Given the description of an element on the screen output the (x, y) to click on. 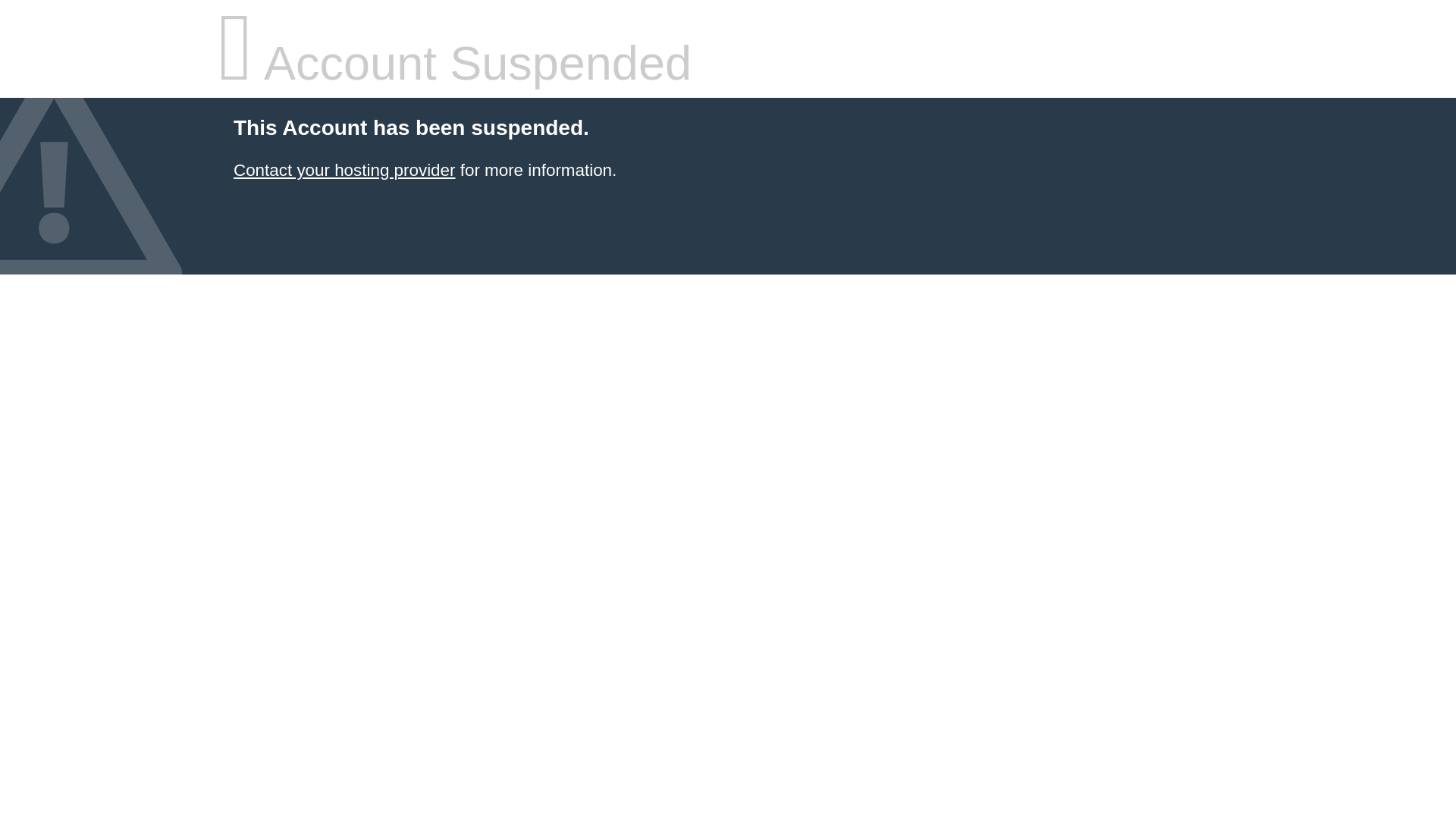
Contact your hosting provider (343, 169)
